Given the description of an element on the screen output the (x, y) to click on. 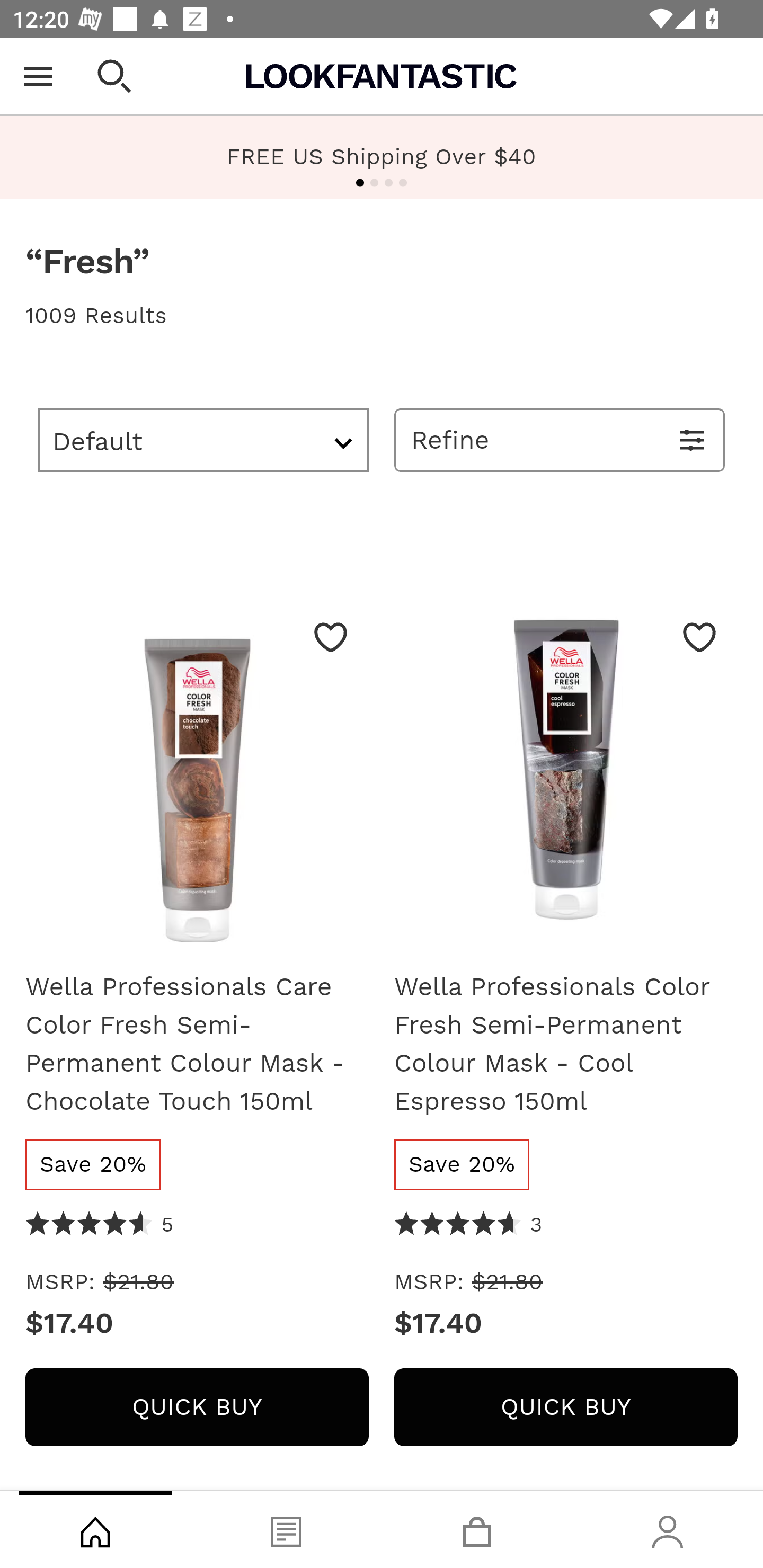
Open Menu (38, 75)
Open search (114, 75)
Lookfantastic USA (381, 75)
FREE US Shipping Over $40 (381, 157)
FREE US Shipping Over $40 (381, 155)
Default (203, 439)
Refine (559, 439)
Save to Wishlist (330, 637)
Save to Wishlist (698, 637)
Save 20%, read more (93, 1164)
Save 20%, read more (462, 1164)
4.6 Stars 5 Reviews (99, 1225)
4.67 Stars 3 Reviews (468, 1225)
Shop, tab, 1 of 4 (95, 1529)
Blog, tab, 2 of 4 (285, 1529)
Basket, tab, 3 of 4 (476, 1529)
Account, tab, 4 of 4 (667, 1529)
